Given the description of an element on the screen output the (x, y) to click on. 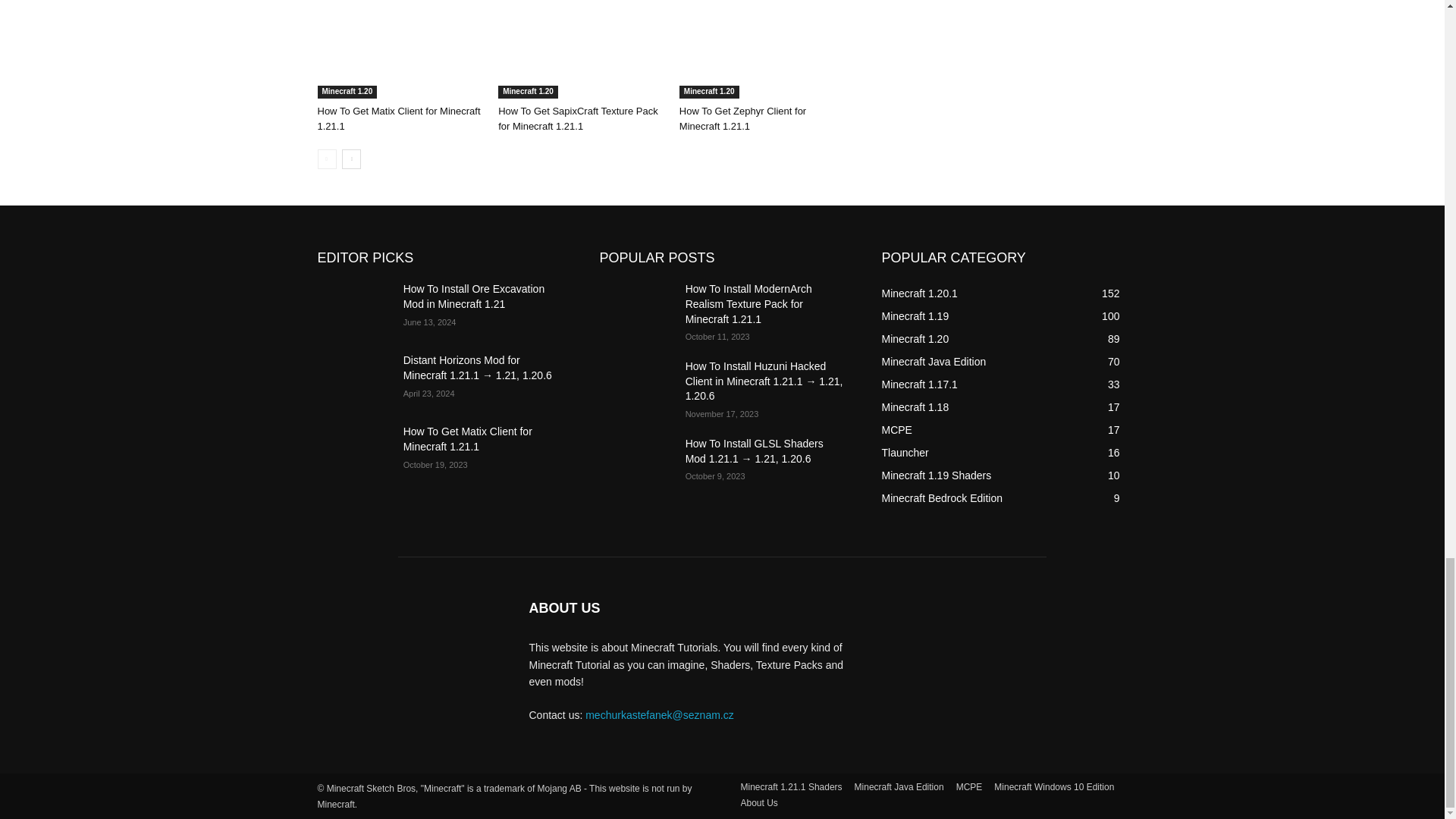
How To Get Zephyr Client for Minecraft 1.21.1 (762, 49)
How To Get Matix Client for Minecraft 1.21.1 (398, 118)
How To Get SapixCraft Texture Pack for Minecraft 1.21.1 (577, 118)
How To Get Zephyr Client for Minecraft 1.21.1 (742, 118)
How To Get SapixCraft Texture Pack for Minecraft 1.21.1 (580, 49)
How To Get Matix Client for Minecraft 1.21.1 (400, 49)
